Given the description of an element on the screen output the (x, y) to click on. 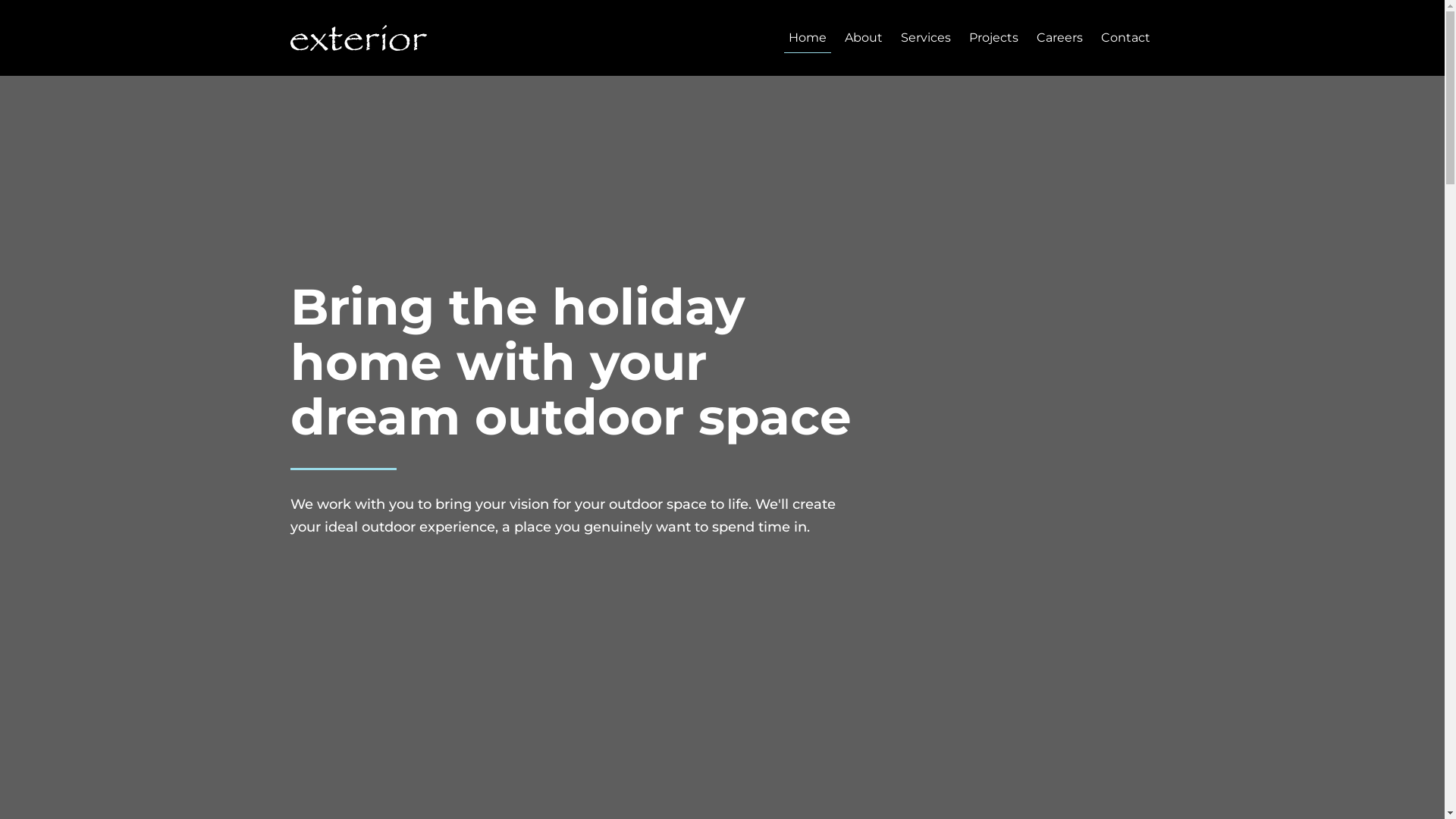
Services Element type: text (925, 37)
Home Element type: text (807, 37)
Careers Element type: text (1058, 37)
Projects Element type: text (993, 37)
About Element type: text (863, 37)
Contact Element type: text (1125, 37)
